Given the description of an element on the screen output the (x, y) to click on. 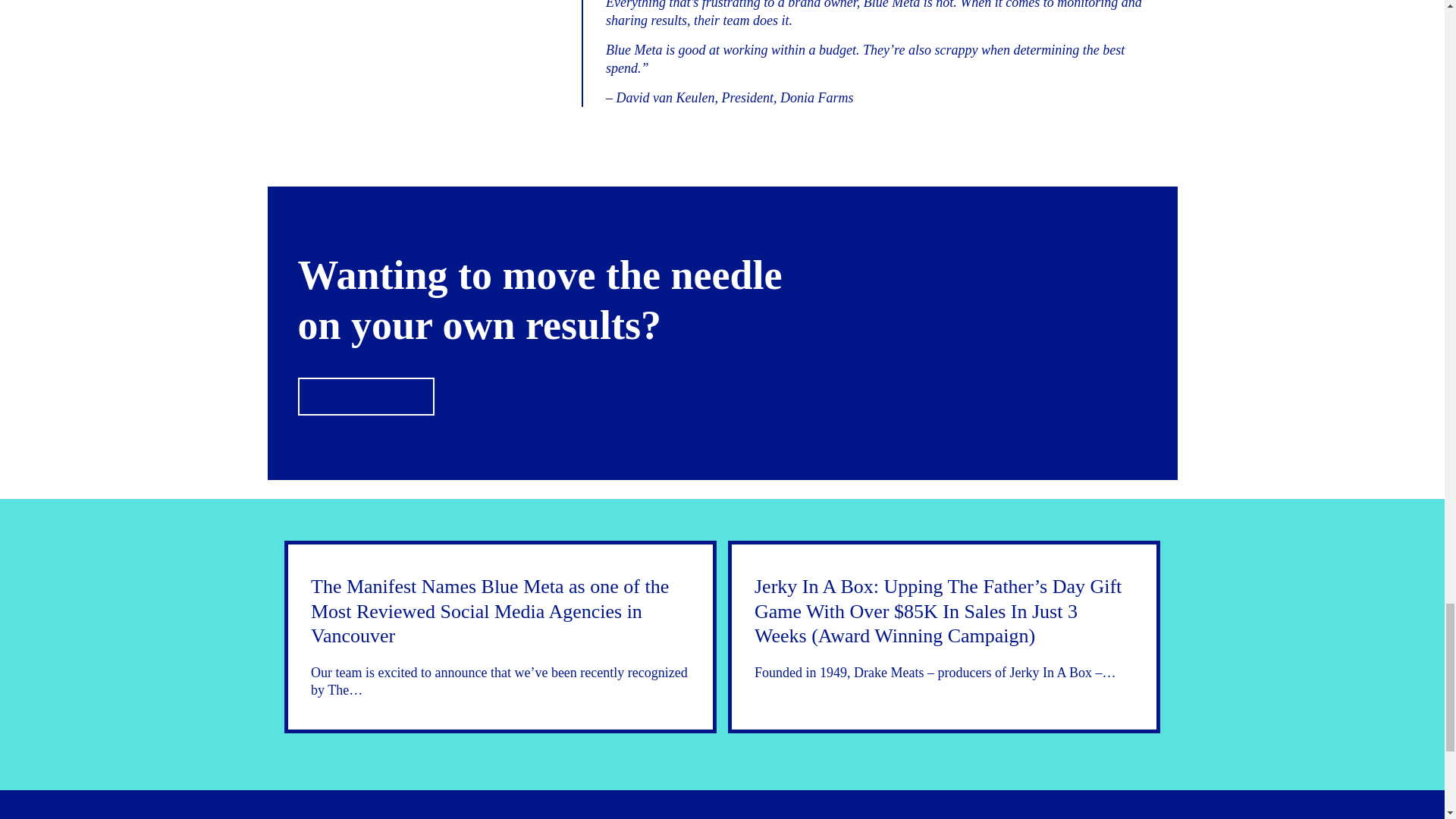
GET IN TOUCH (365, 396)
